Given the description of an element on the screen output the (x, y) to click on. 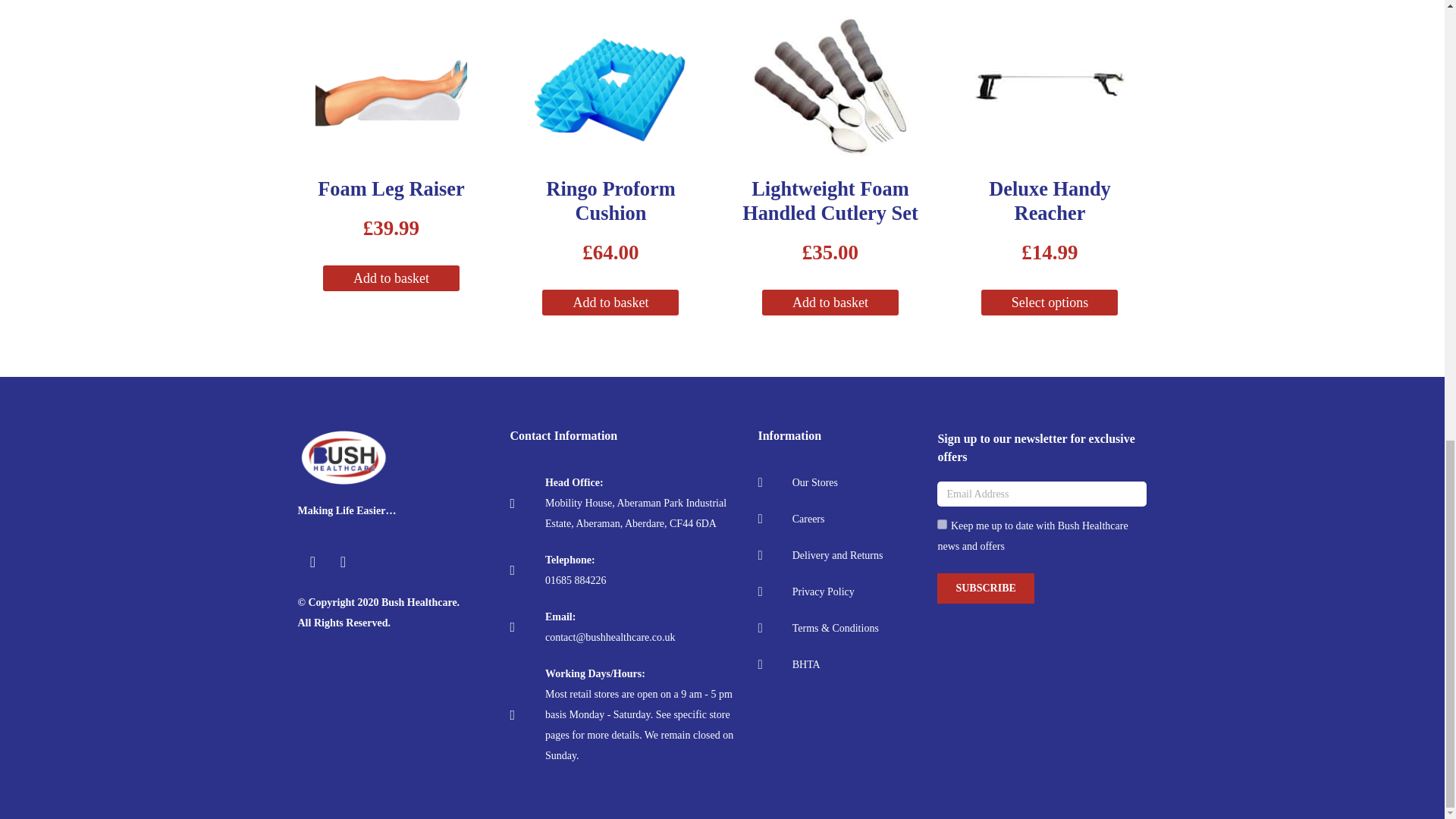
Keep me up to date with Bush Healthcare news and offers (942, 524)
